Given the description of an element on the screen output the (x, y) to click on. 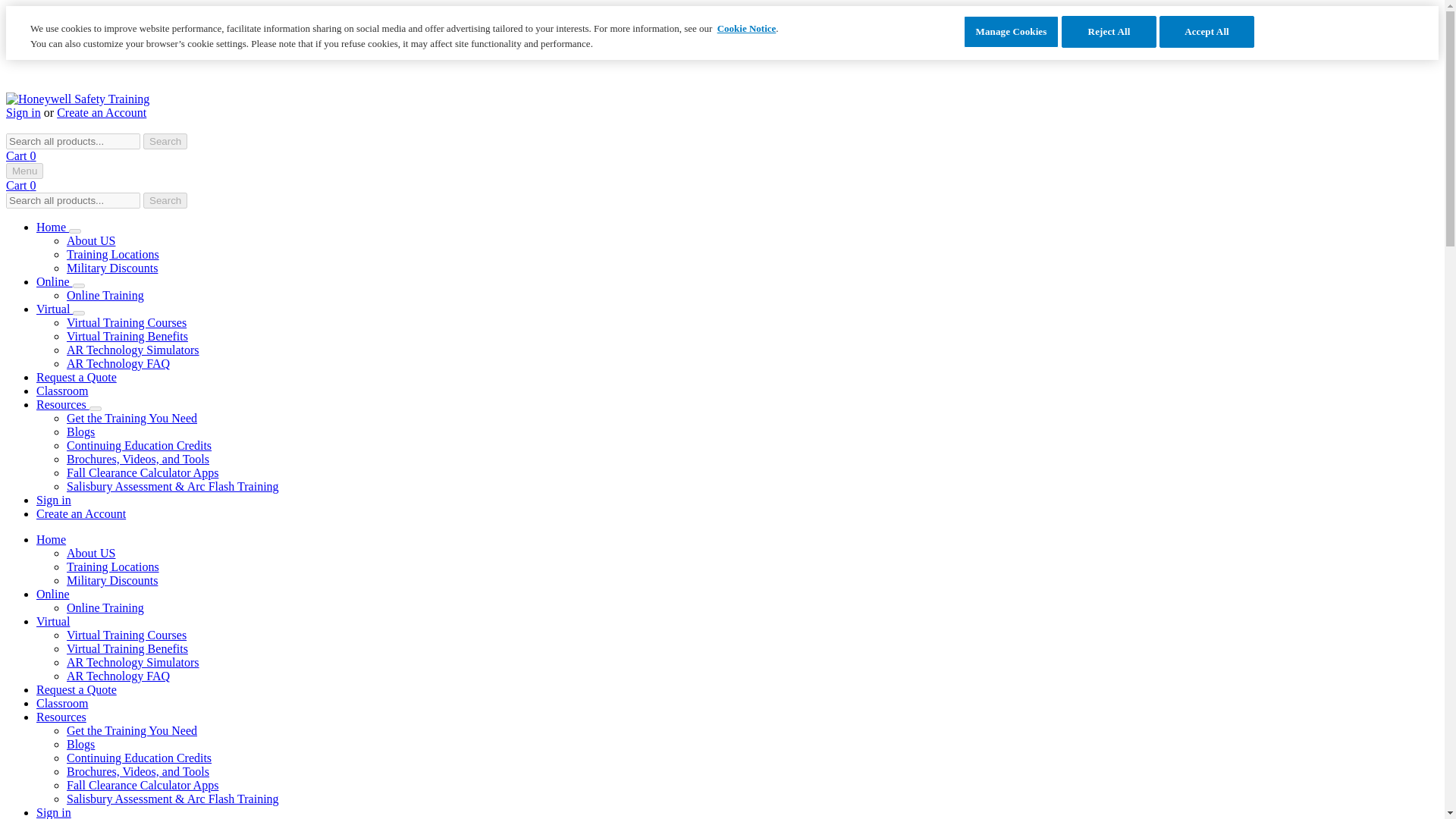
Military Discounts (111, 580)
Fall Clearance Calculator Apps (142, 472)
Virtual Training Courses (126, 322)
Menu (24, 170)
About US (90, 553)
Online (52, 594)
Get the Training You Need (131, 418)
Online (54, 281)
Virtual (54, 308)
Virtual Training Benefits (126, 336)
Resources (62, 404)
Online Training (105, 295)
Cart 0 (20, 155)
Continuing Education Credits (138, 445)
AR Technology FAQ (118, 363)
